Given the description of an element on the screen output the (x, y) to click on. 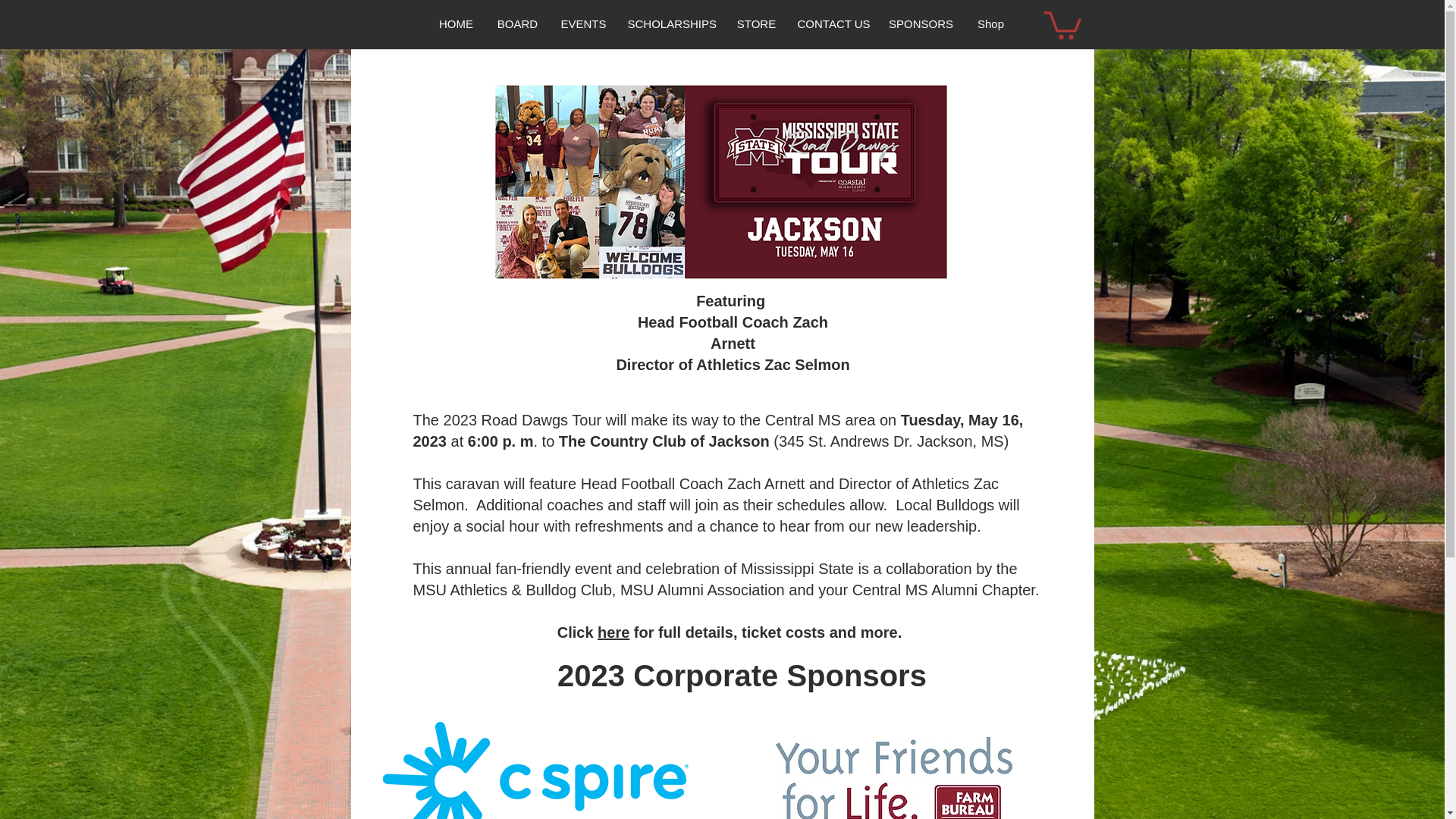
EVENTS (582, 24)
Shop (989, 24)
here (612, 632)
SCHOLARSHIPS (671, 24)
STORE (756, 24)
CONTACT US (832, 24)
SPONSORS (919, 24)
HOME (455, 24)
BOARD (516, 24)
